Given the description of an element on the screen output the (x, y) to click on. 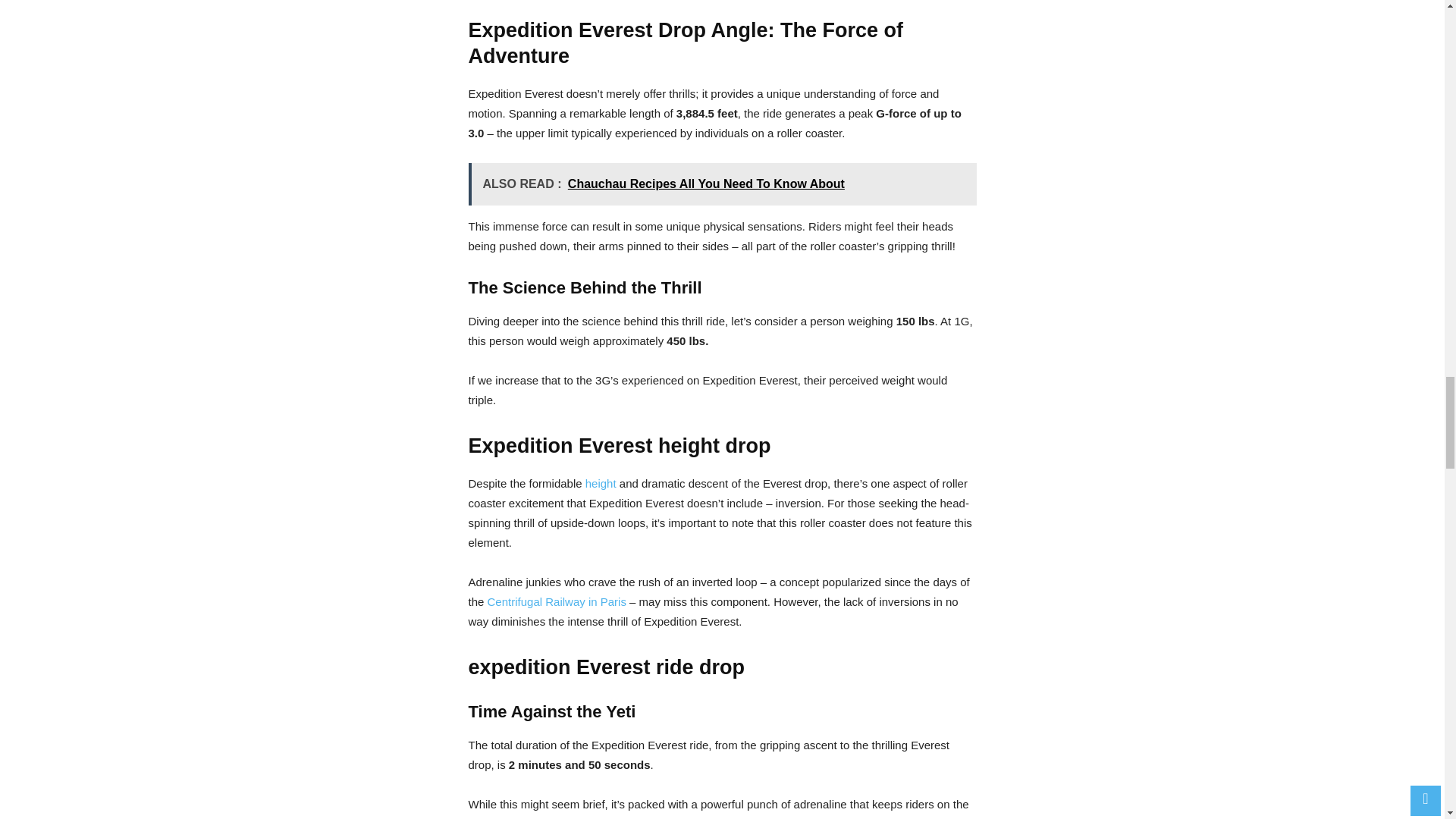
Centrifugal Railway in Paris (556, 601)
height (600, 482)
height (600, 482)
ALSO READ :  Chauchau Recipes All You Need To Know About (722, 183)
